Given the description of an element on the screen output the (x, y) to click on. 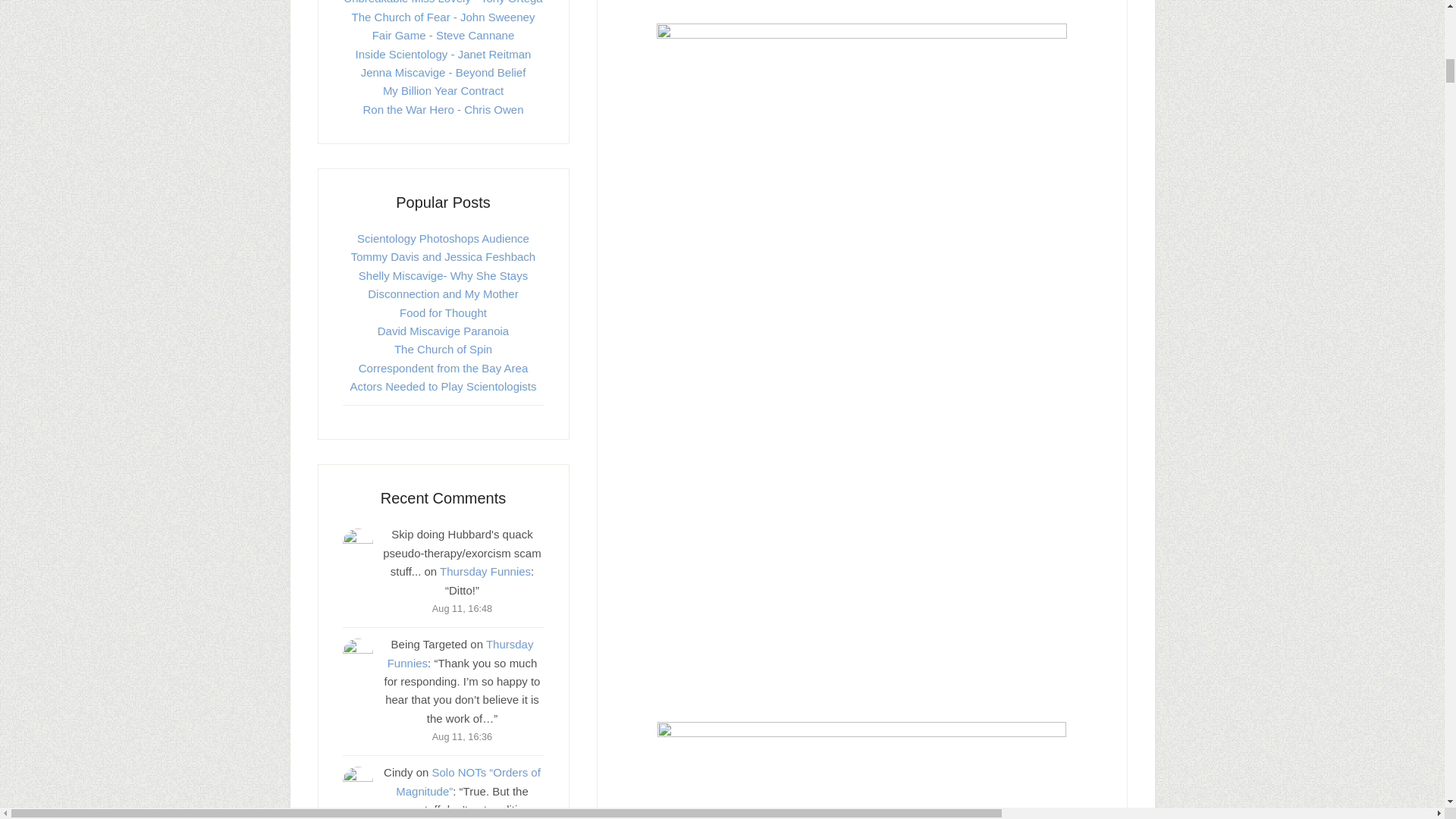
Shelly Miscavige- Why She Stays (442, 275)
Food for Thought (442, 312)
Scientology Photoshops Audience (442, 237)
Tommy Davis and Jessica Feshbach (442, 256)
David Miscavige Paranoia (442, 330)
The Church of Spin (443, 349)
Disconnection and My Mother (443, 293)
